Given the description of an element on the screen output the (x, y) to click on. 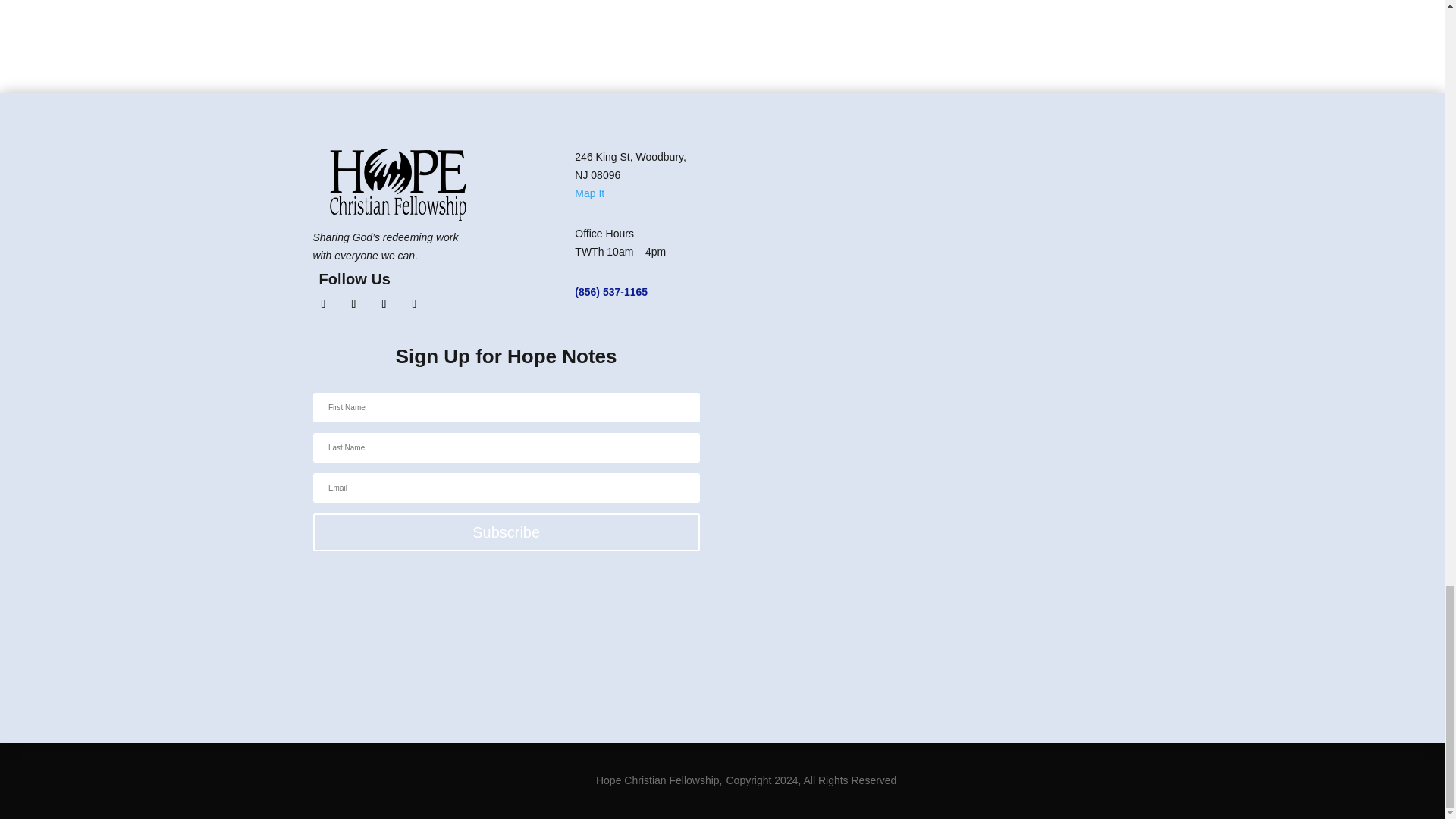
hope-christian-fellowship-woodburty (397, 184)
Follow on Facebook (322, 303)
Follow on Instagram (352, 303)
Follow on Google (413, 303)
Follow on Youtube (383, 303)
